Given the description of an element on the screen output the (x, y) to click on. 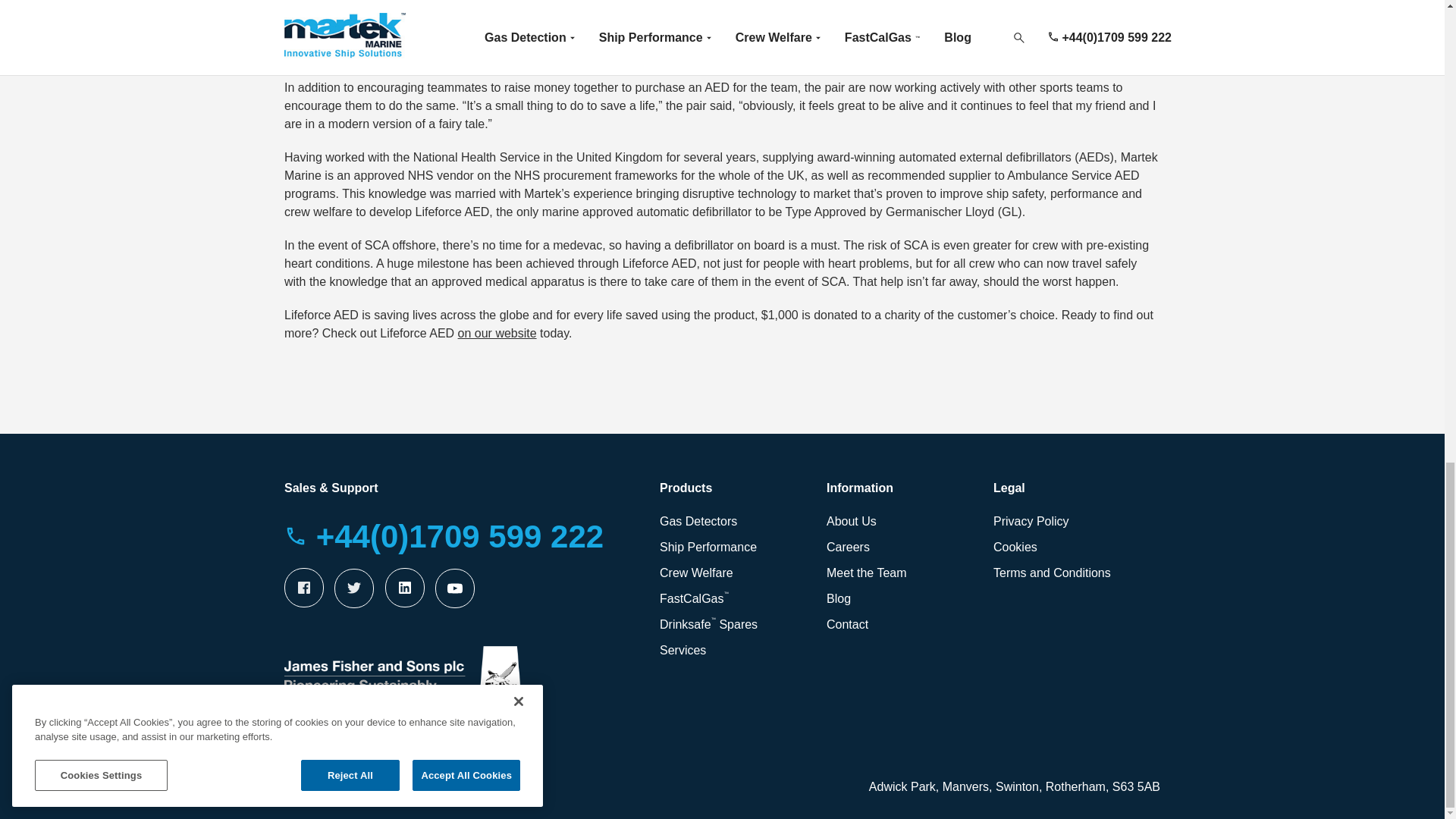
Martek Marine Twitter Page (354, 588)
Martek Marine Facebook Page (303, 587)
Martek Marine YouTube Page (454, 588)
Martek Marine LinkedIn Page (405, 587)
